Given the description of an element on the screen output the (x, y) to click on. 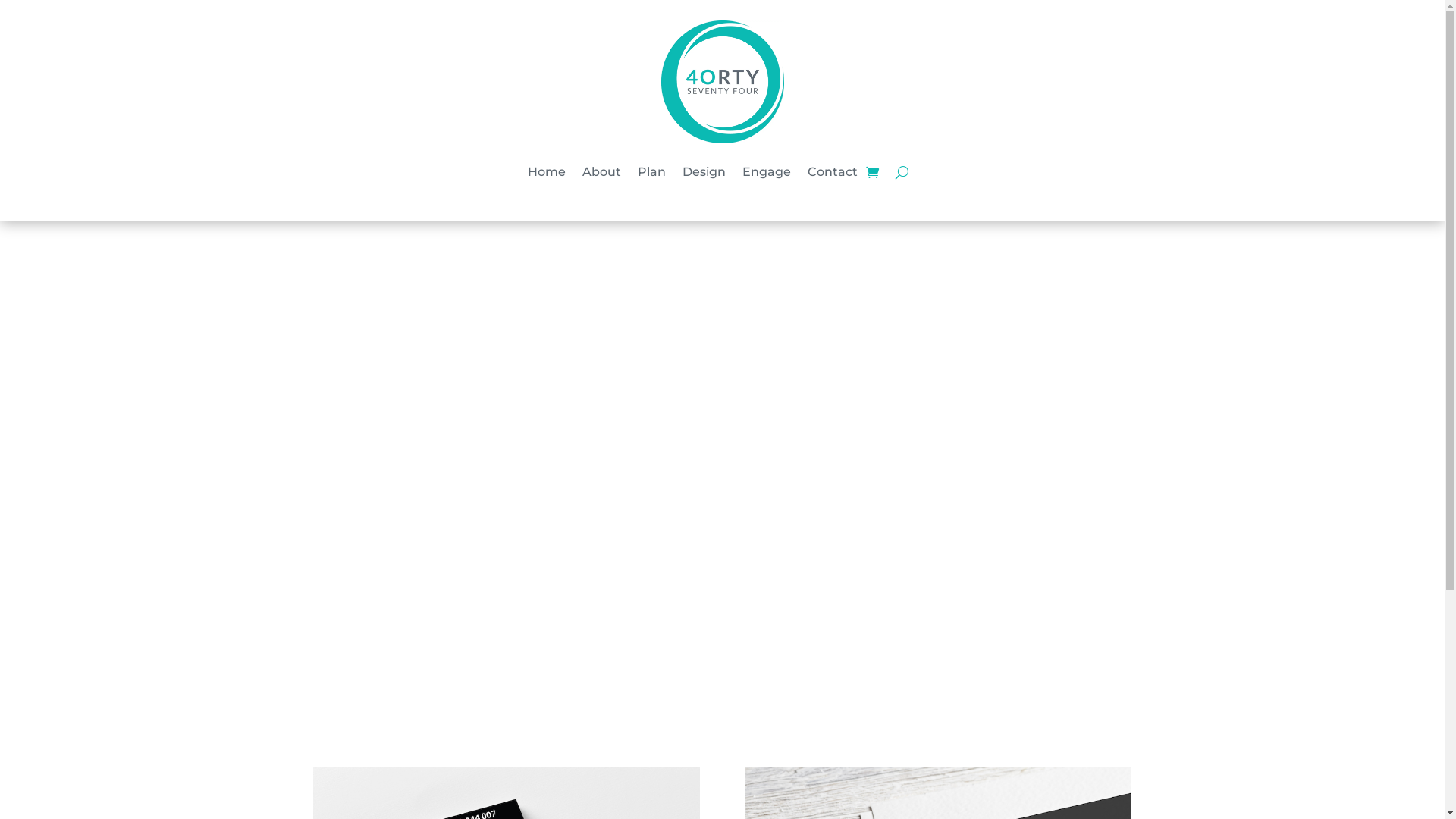
Plan Element type: text (651, 171)
Contact Element type: text (832, 171)
About Element type: text (601, 171)
Design Element type: text (703, 171)
Home Element type: text (546, 171)
Engage Element type: text (766, 171)
